Given the description of an element on the screen output the (x, y) to click on. 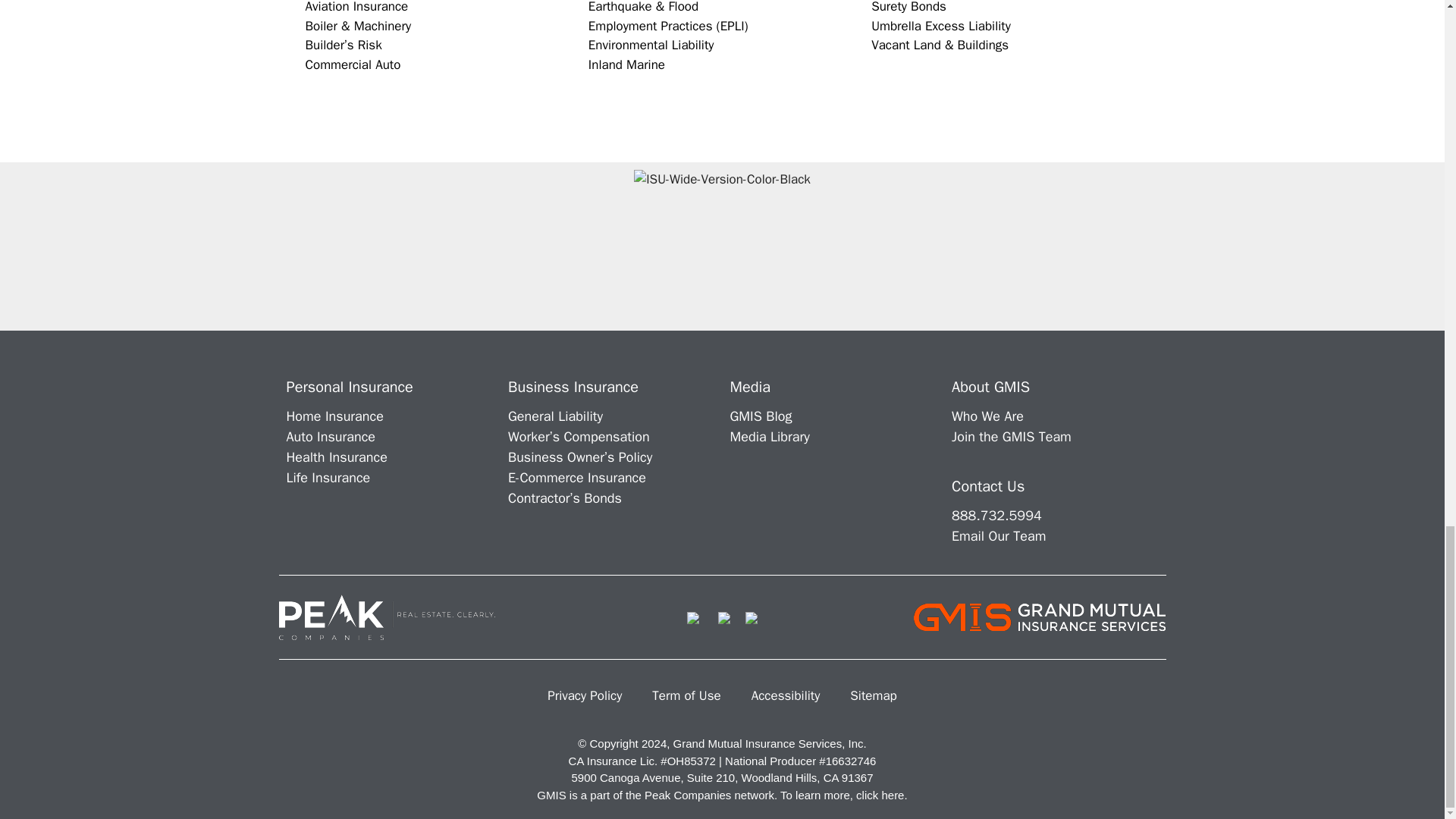
Aviation Insurance (355, 7)
Commercial Auto (352, 64)
ISU-Wide-Version-Color-Black (721, 245)
